Given the description of an element on the screen output the (x, y) to click on. 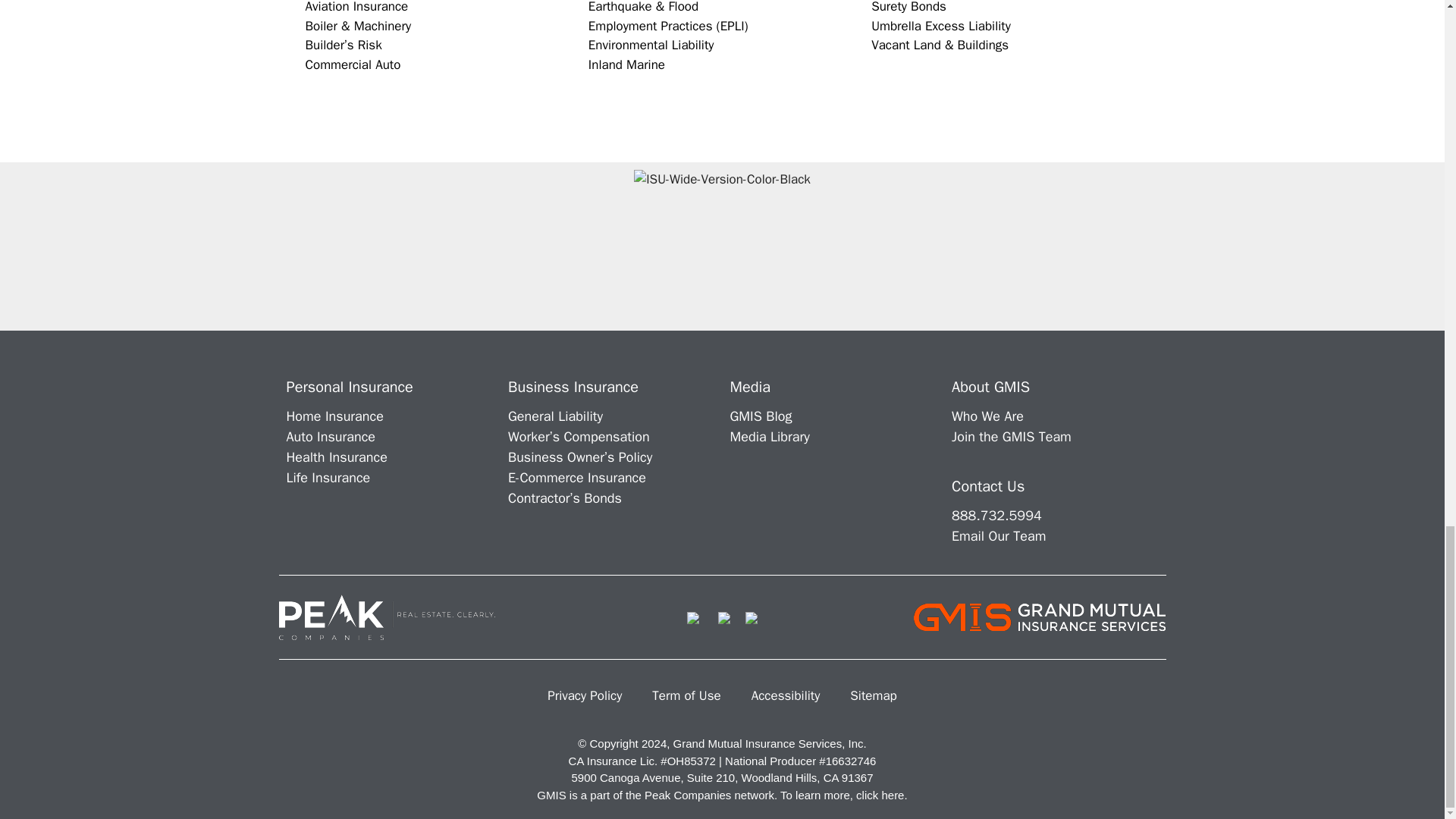
Aviation Insurance (355, 7)
Commercial Auto (352, 64)
ISU-Wide-Version-Color-Black (721, 245)
